Given the description of an element on the screen output the (x, y) to click on. 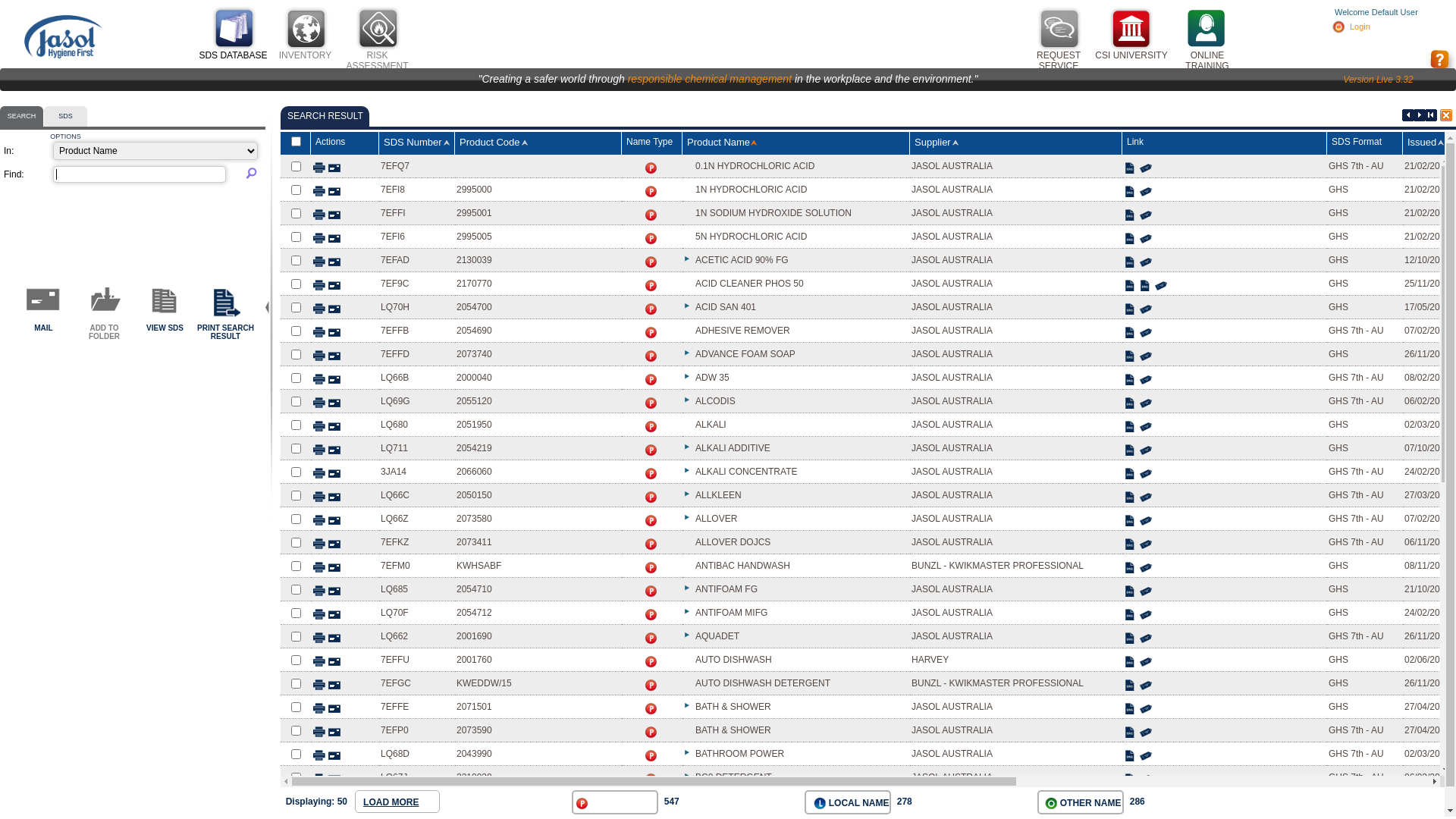
NavigatetotabonRight Element type: hover (1419, 115)
Select SDS from the search result screen to enable function Element type: hover (164, 302)
RISK ASSESSMENT Element type: text (376, 60)
SDS OPTIONS Element type: text (65, 116)
ONLINE TRAINING Element type: text (1207, 60)
SEARCH Element type: text (21, 116)
Service under development Element type: hover (1058, 29)
Click here to learn about CSI Element type: hover (1130, 29)
Select SDS from the search result screen to enable function Element type: hover (43, 302)
Jump to the first tab Element type: hover (1430, 115)
Close all tabs other than the default ones Element type: hover (1446, 115)
Click here to view our training session times Element type: hover (1205, 29)
Navigate to tab on left Element type: hover (1408, 115)
Login Element type: text (1359, 26)
INVENTORY Element type: text (305, 55)
Click here to access SDS database Element type: hover (233, 29)
SDS DATABASE Element type: text (232, 55)
